Given the description of an element on the screen output the (x, y) to click on. 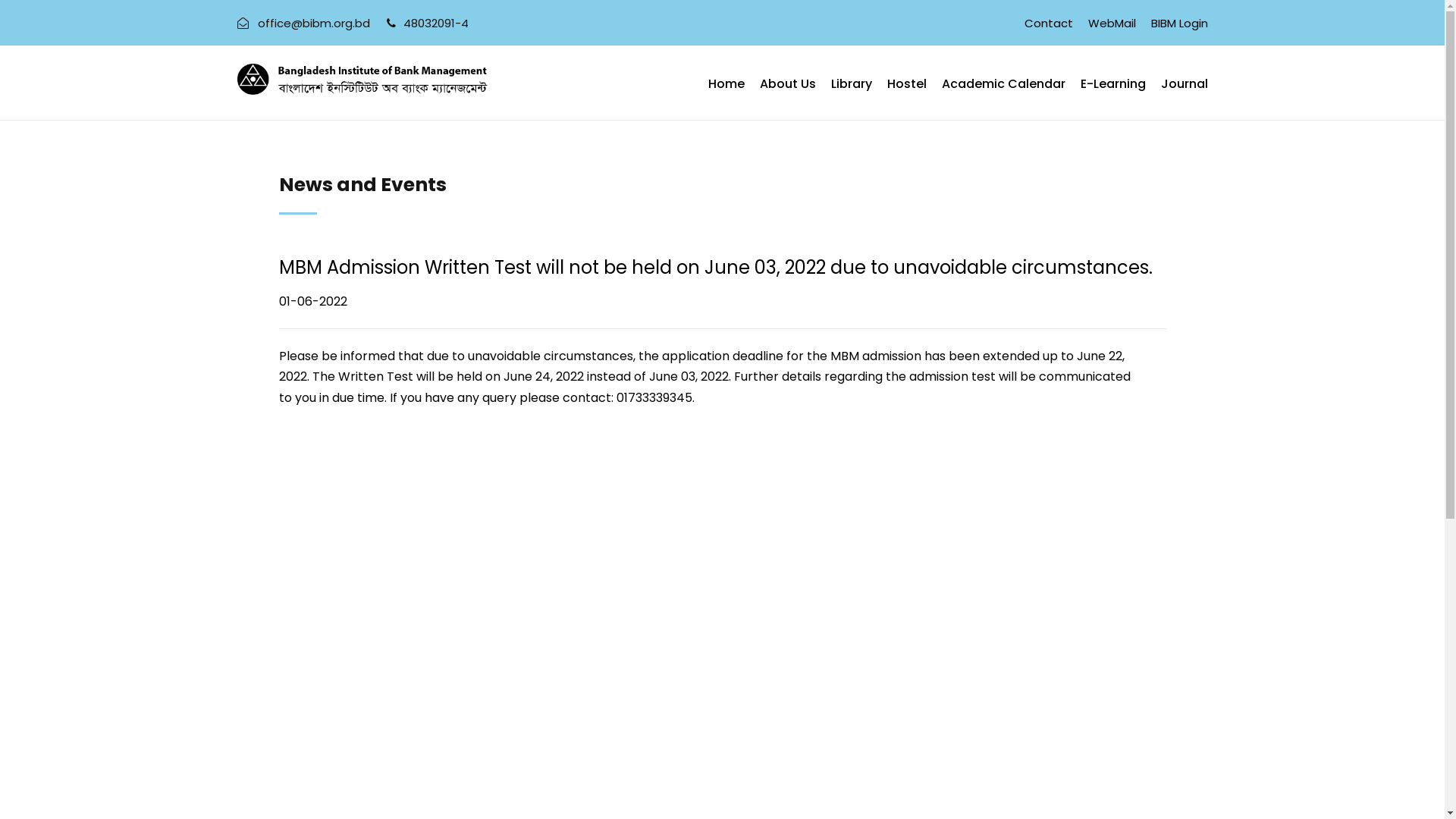
Library Element type: text (851, 96)
WebMail Element type: text (1111, 29)
Home Element type: text (726, 96)
E-Learning Element type: text (1112, 96)
Contact Element type: text (1047, 29)
Hostel Element type: text (906, 96)
BIBM Login Element type: text (1179, 29)
Academic Calendar Element type: text (1003, 96)
Journal Element type: text (1183, 96)
About Us Element type: text (787, 96)
